Given the description of an element on the screen output the (x, y) to click on. 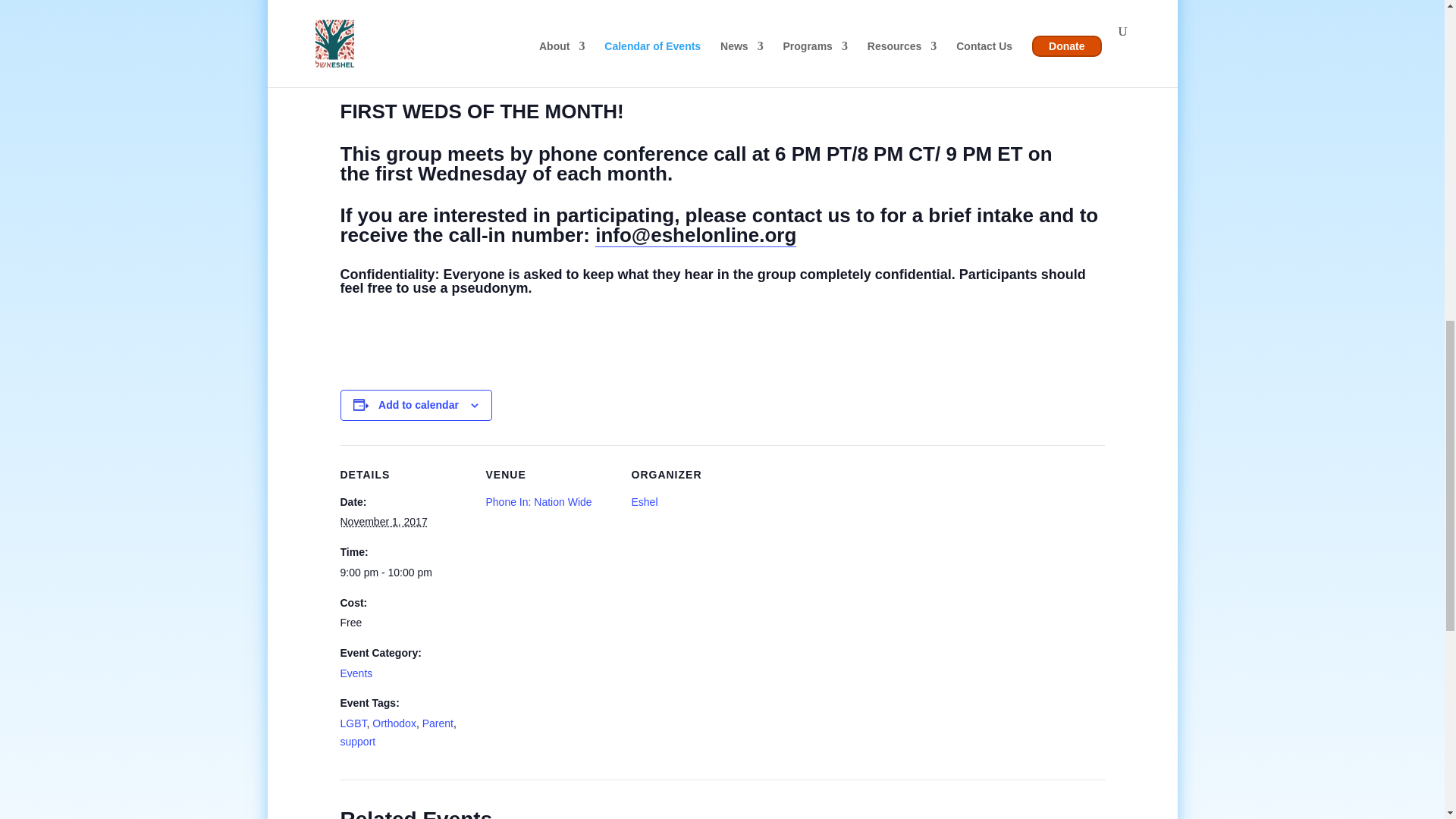
2017-11-01 (403, 573)
LGBT (352, 723)
2017-11-01 (382, 521)
Eshel (644, 501)
Add to calendar (418, 404)
Events (355, 673)
